Given the description of an element on the screen output the (x, y) to click on. 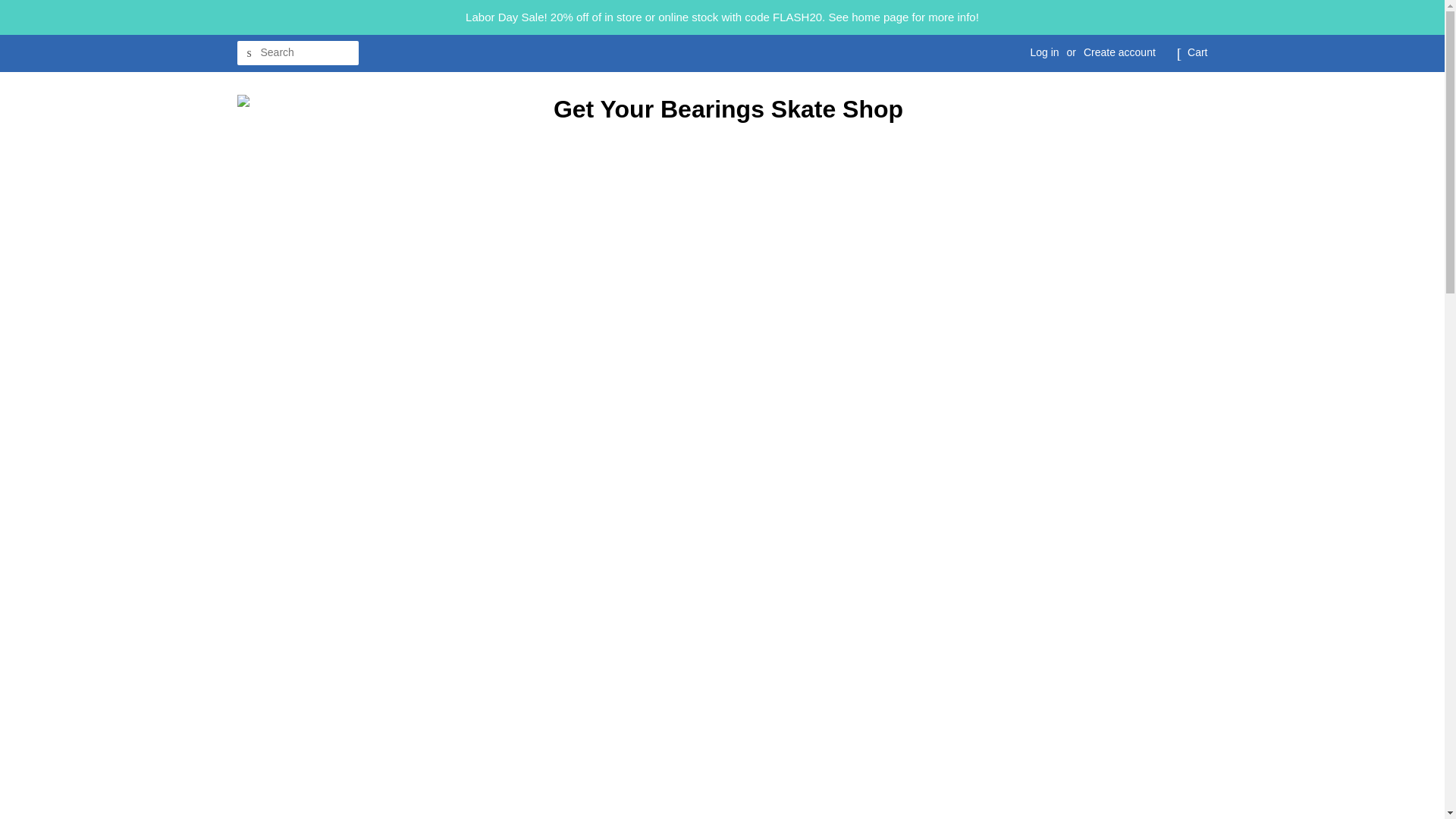
Log in (1043, 51)
Cart (1197, 53)
Search (247, 53)
Create account (1119, 51)
